Given the description of an element on the screen output the (x, y) to click on. 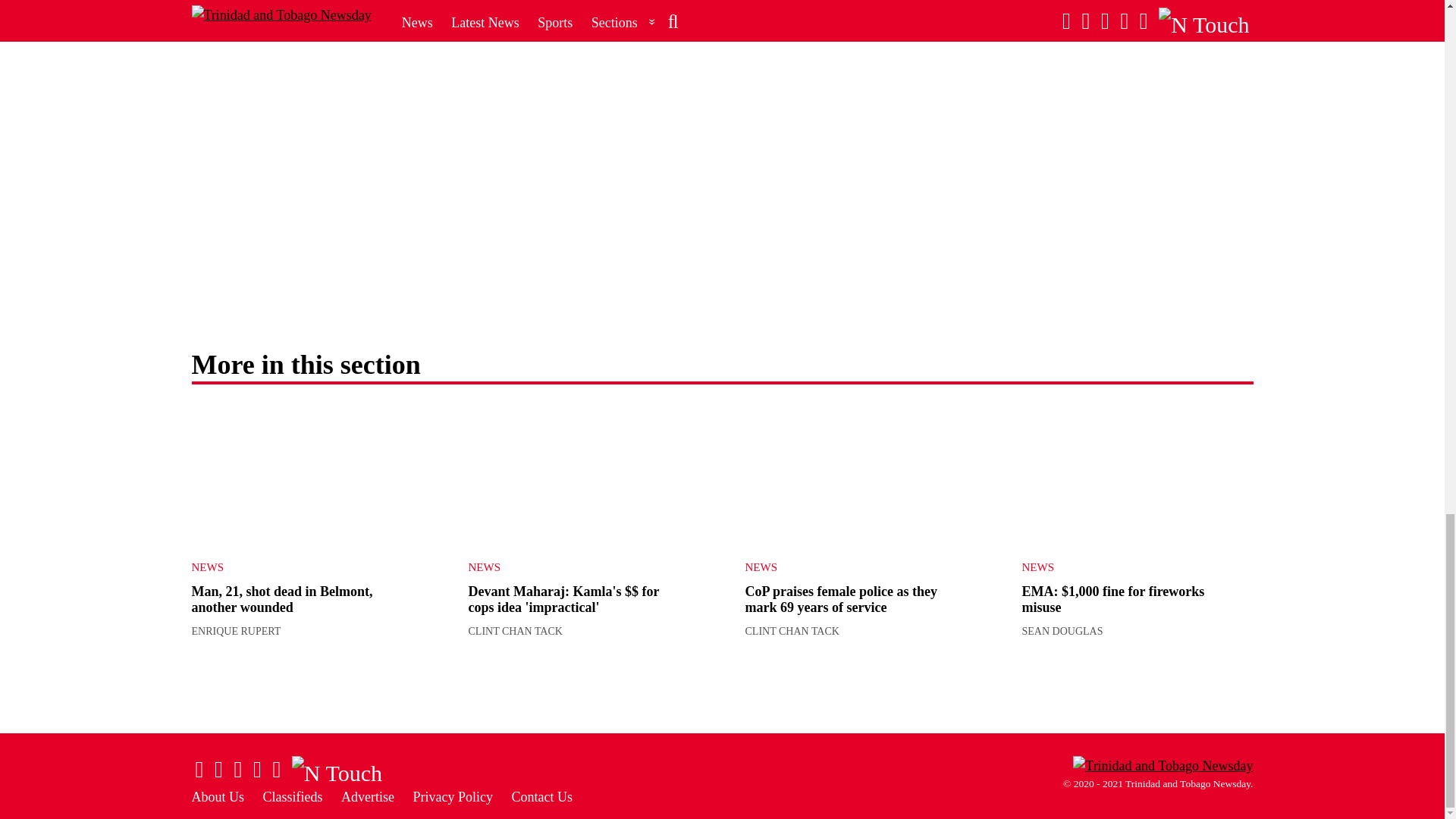
Man, 21, shot dead in Belmont, another wounded (281, 599)
NEWS (572, 567)
CLINT CHAN TACK (515, 631)
NEWS (294, 567)
ENRIQUE RUPERT (235, 631)
Man, 21, shot dead in Belmont, another wounded (306, 475)
CoP praises female police as they mark 69 years of service (859, 475)
